Given the description of an element on the screen output the (x, y) to click on. 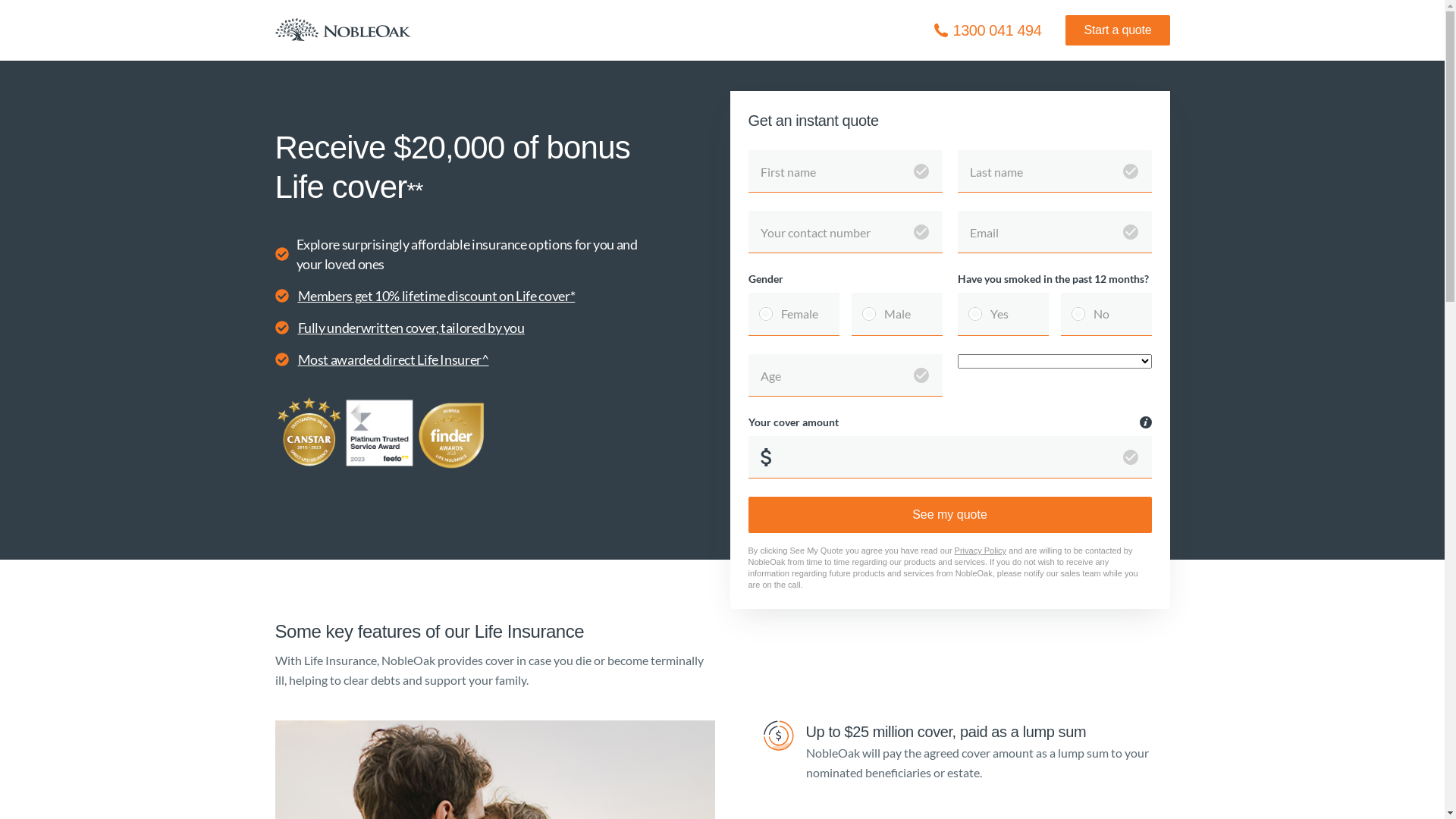
Privacy Policy Element type: text (980, 550)
Start a quote Element type: text (1117, 30)
Most awarded direct Life Insurer^ Element type: text (392, 359)
See my quote Element type: text (949, 514)
Fully underwritten cover, tailored by you Element type: text (410, 327)
Icon / phone
1300 041 494 Element type: text (986, 30)
Members get 10% lifetime discount on Life cover* Element type: text (435, 295)
